Given the description of an element on the screen output the (x, y) to click on. 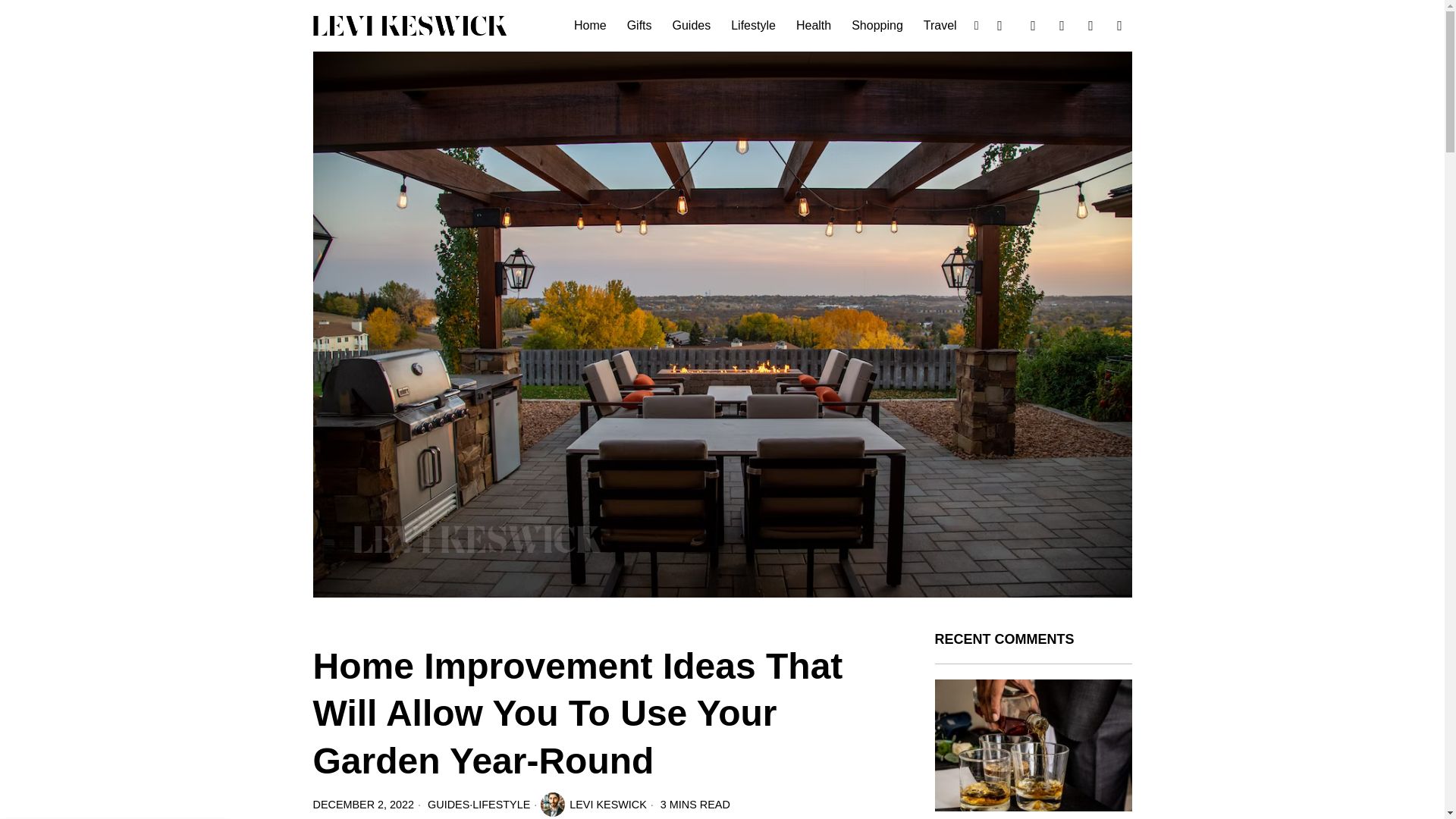
Lifestyle (754, 25)
Guides (692, 25)
Shopping (878, 25)
LIFESTYLE (500, 804)
Home (590, 25)
Travel (941, 25)
GUIDES (448, 804)
Gifts (640, 25)
Health (815, 25)
LEVI KESWICK (593, 804)
